Given the description of an element on the screen output the (x, y) to click on. 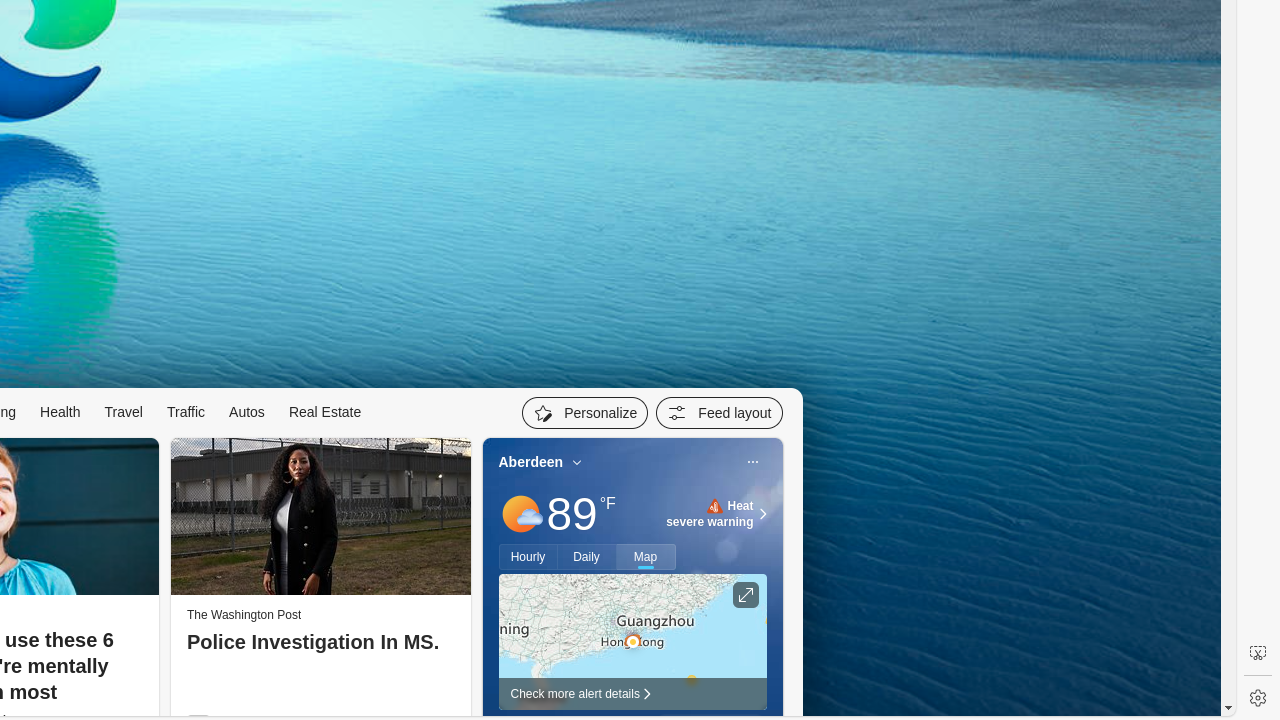
Check more alert details Element type: link (632, 694)
Daily Element type: list-item (587, 557)
Travel Element type: link (123, 412)
Traffic Element type: link (186, 412)
Larger map  Element type: link (632, 642)
